Given the description of an element on the screen output the (x, y) to click on. 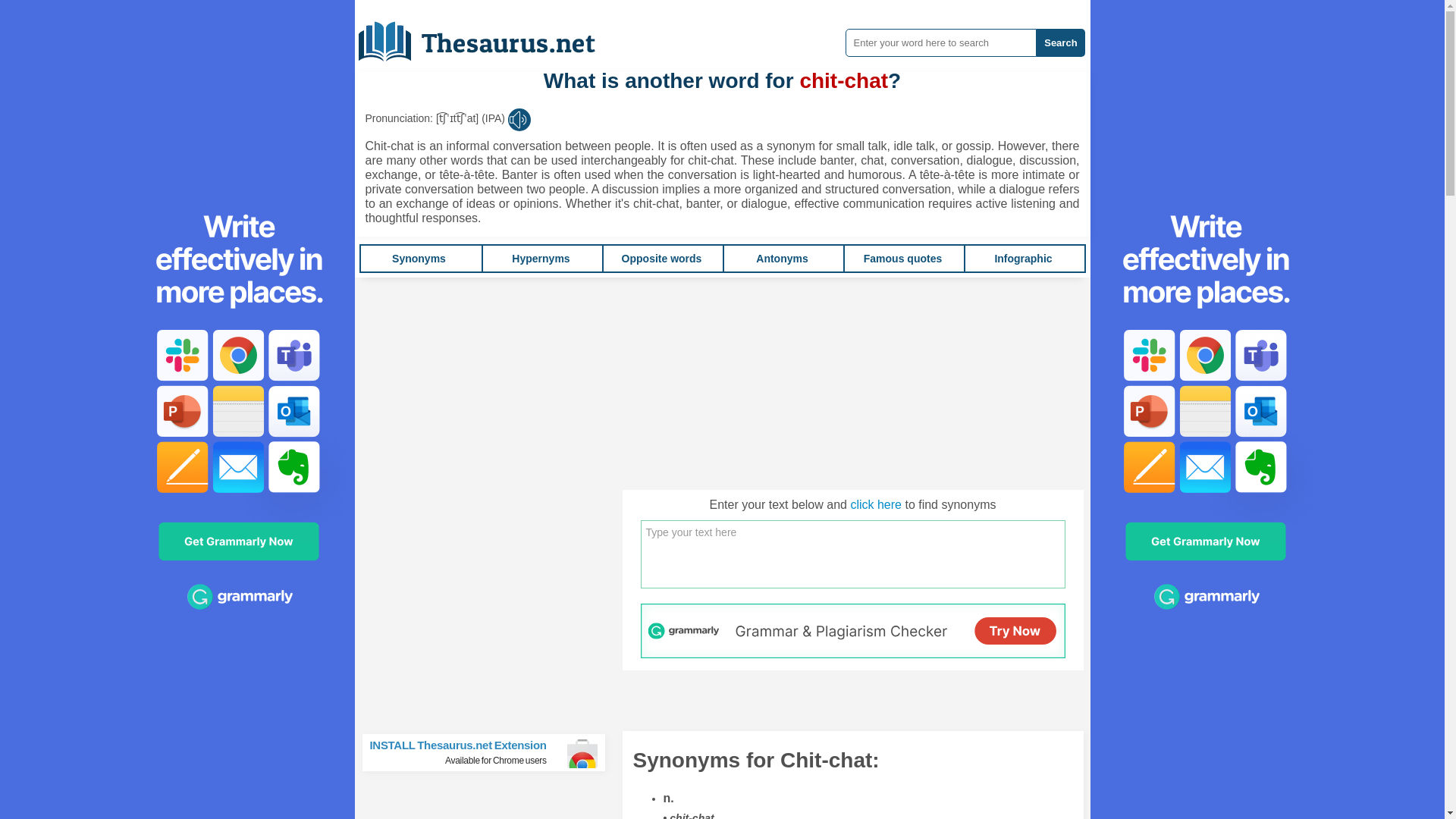
Opposite words (661, 258)
Infographic (1022, 258)
Infographic (1022, 258)
Hypernyms (540, 258)
Famous quotes (902, 258)
Antonyms (781, 258)
Famous quotes (902, 258)
Synonyms (418, 258)
Synonyms (418, 258)
Antonyms (781, 258)
Opposite words (661, 258)
click here (875, 504)
Search (1060, 42)
Thesaurus.net (489, 752)
